Given the description of an element on the screen output the (x, y) to click on. 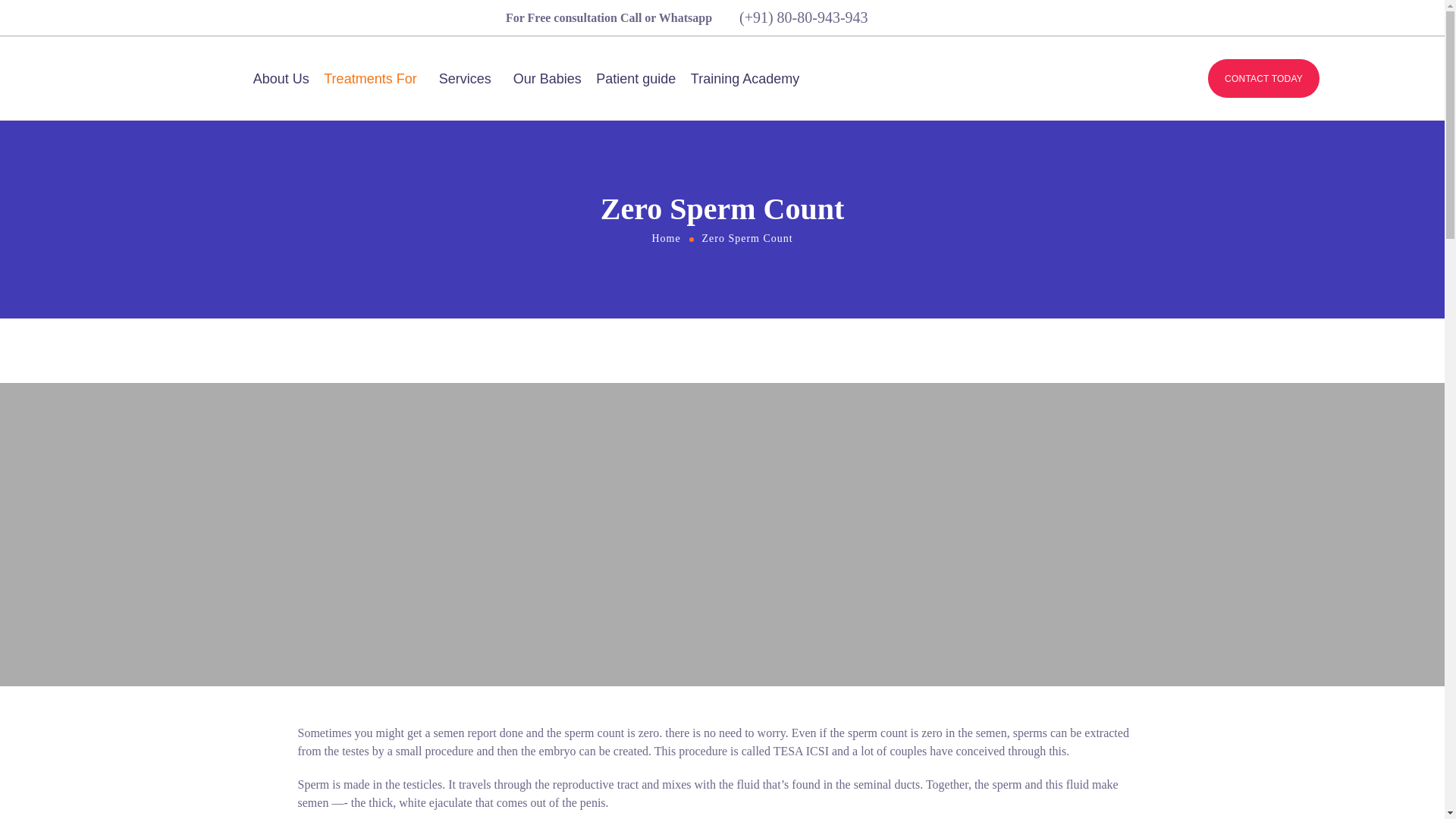
Training Academy (744, 79)
Our Babies (546, 79)
Patient guide (635, 79)
Treatments For (373, 79)
CONTACT TODAY (1263, 78)
Home (665, 238)
logo23 (85, 78)
